Given the description of an element on the screen output the (x, y) to click on. 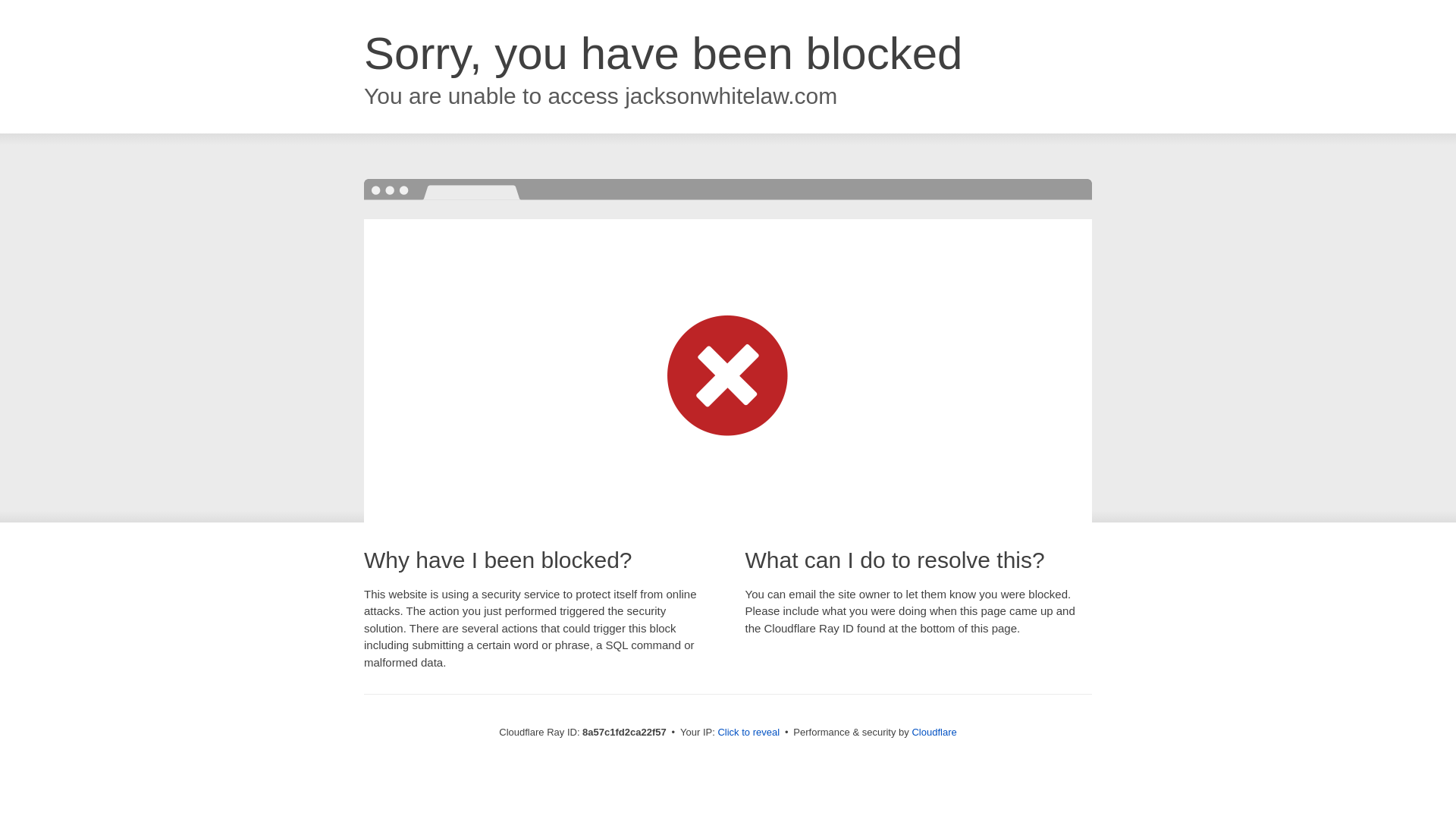
Cloudflare (933, 731)
Click to reveal (747, 732)
